Given the description of an element on the screen output the (x, y) to click on. 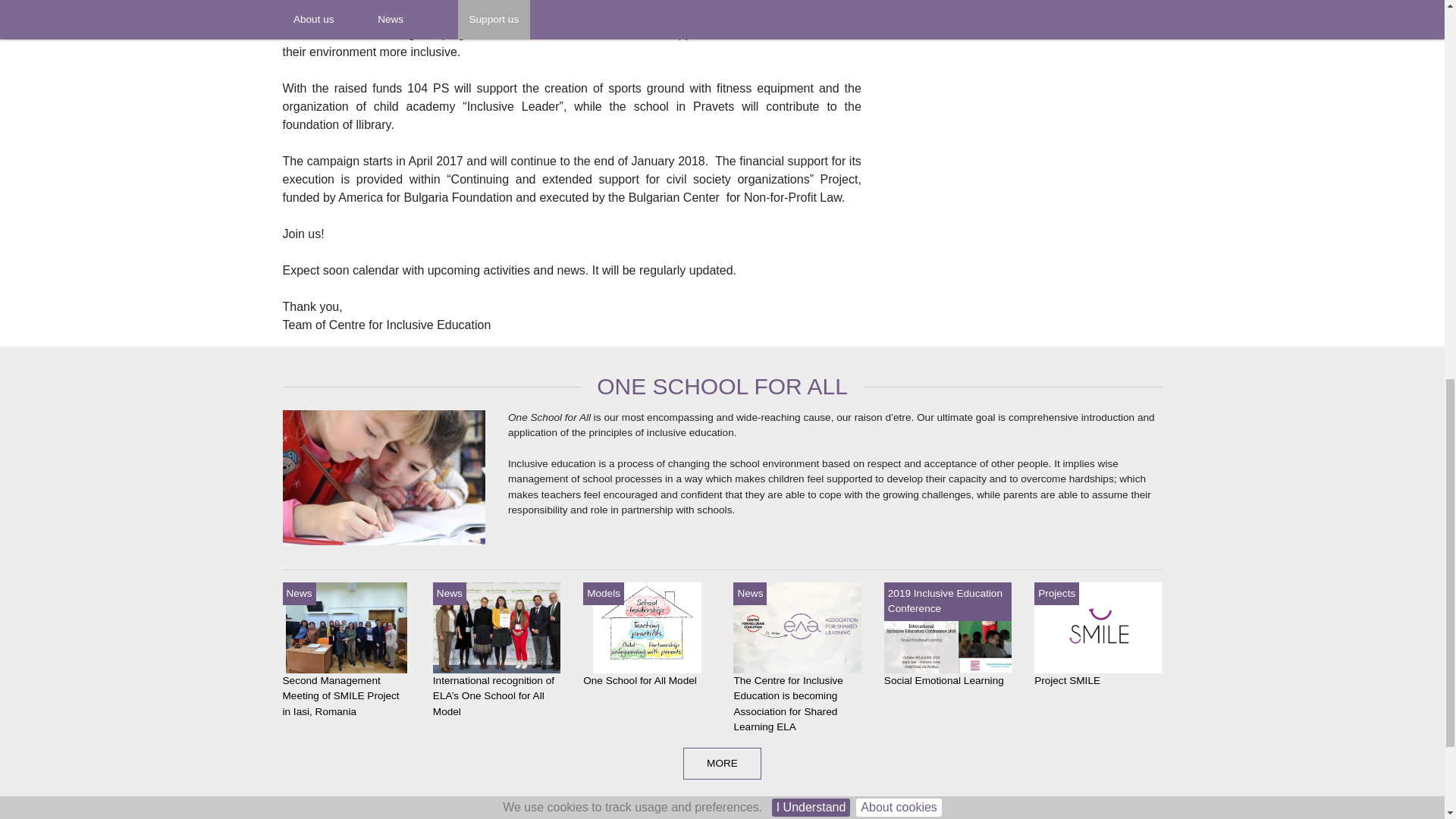
Centre for Inclusive Education (364, 15)
Second Management Meeting of SMILE Project in Iasi, Romania (340, 695)
Second Management Meeting of SMILE Project in Iasi, Romania (345, 627)
Second Management Meeting of SMILE Project in Iasi, Romania (340, 695)
One School for All (383, 482)
104 Zahari Stoyanov PS, Sofia (612, 15)
Vasil Levski PS, Pravets (793, 15)
One School for All Model (640, 680)
